Given the description of an element on the screen output the (x, y) to click on. 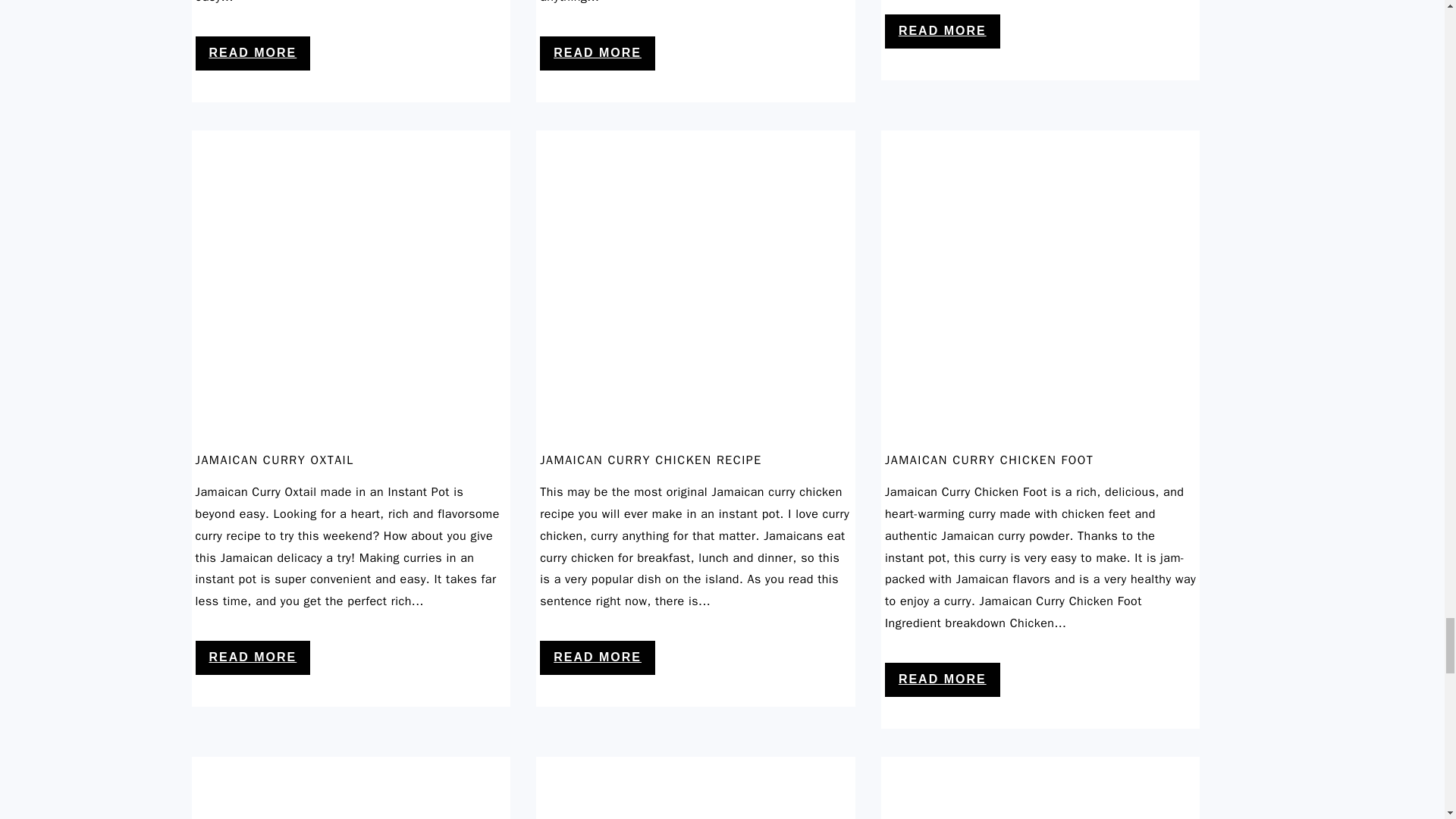
Jamaican Curry Oxtail (350, 441)
Jamaican Curry Chicken Recipe (695, 441)
Jamaican Curry Chicken Foot (1040, 441)
